Given the description of an element on the screen output the (x, y) to click on. 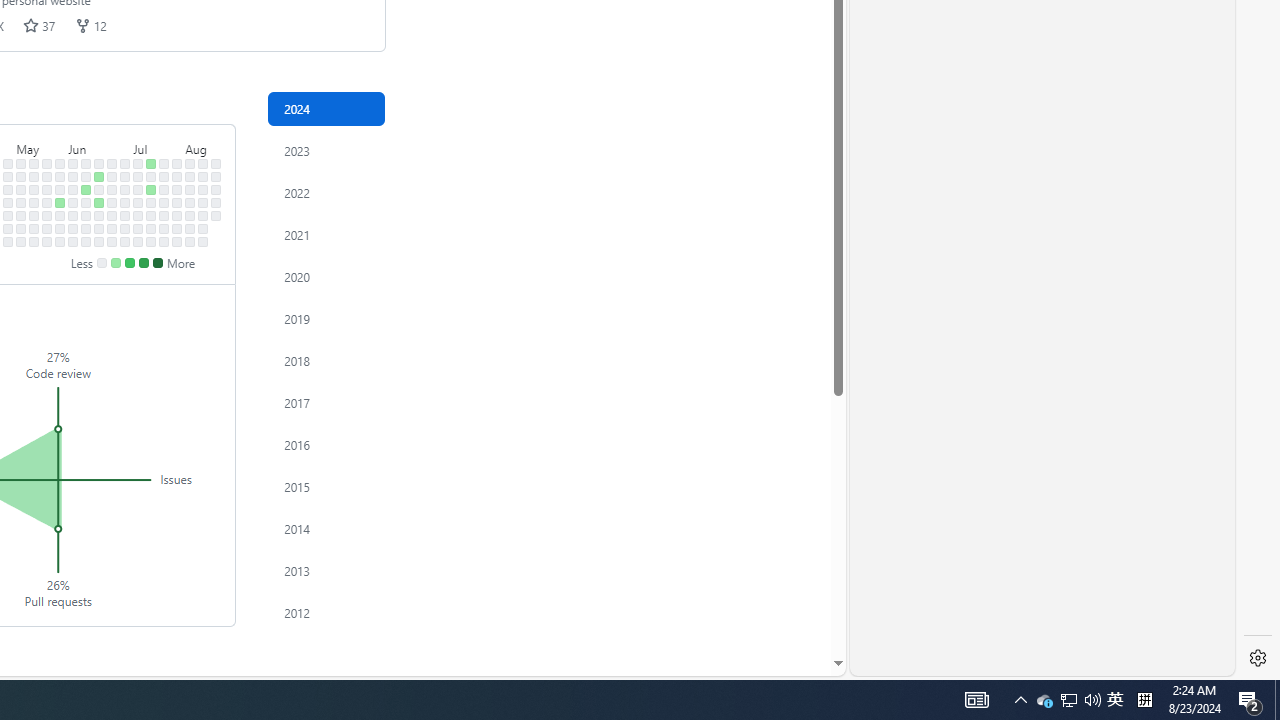
Contribution activity in 2017 (326, 402)
No contributions on June 2nd. (73, 163)
No contributions on July 1st. (125, 176)
2018 (326, 360)
No contributions on May 5th. (20, 163)
No contributions on May 27th. (60, 176)
No contributions on July 19th. (151, 228)
No contributions on May 3rd. (8, 228)
No contributions on June 6th. (73, 215)
No contributions on May 13th. (34, 176)
No contributions on May 15th. (34, 202)
No contributions on June 26th. (112, 202)
No contributions on June 10th. (86, 176)
2012 (326, 612)
No contributions on June 18th. (98, 189)
